Given the description of an element on the screen output the (x, y) to click on. 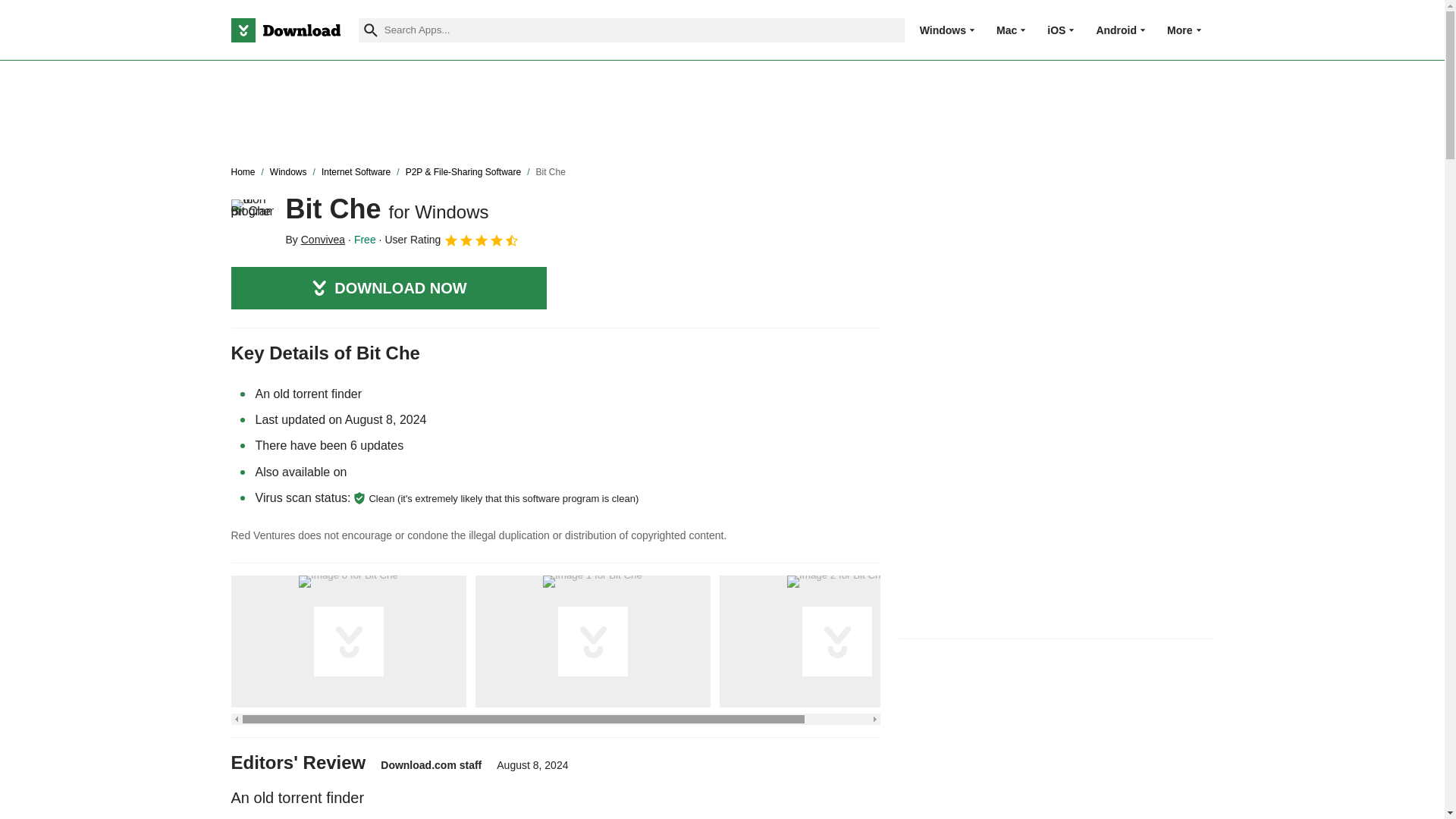
Mac (1005, 29)
Bit Che for Windows (251, 220)
Windows (943, 29)
